Given the description of an element on the screen output the (x, y) to click on. 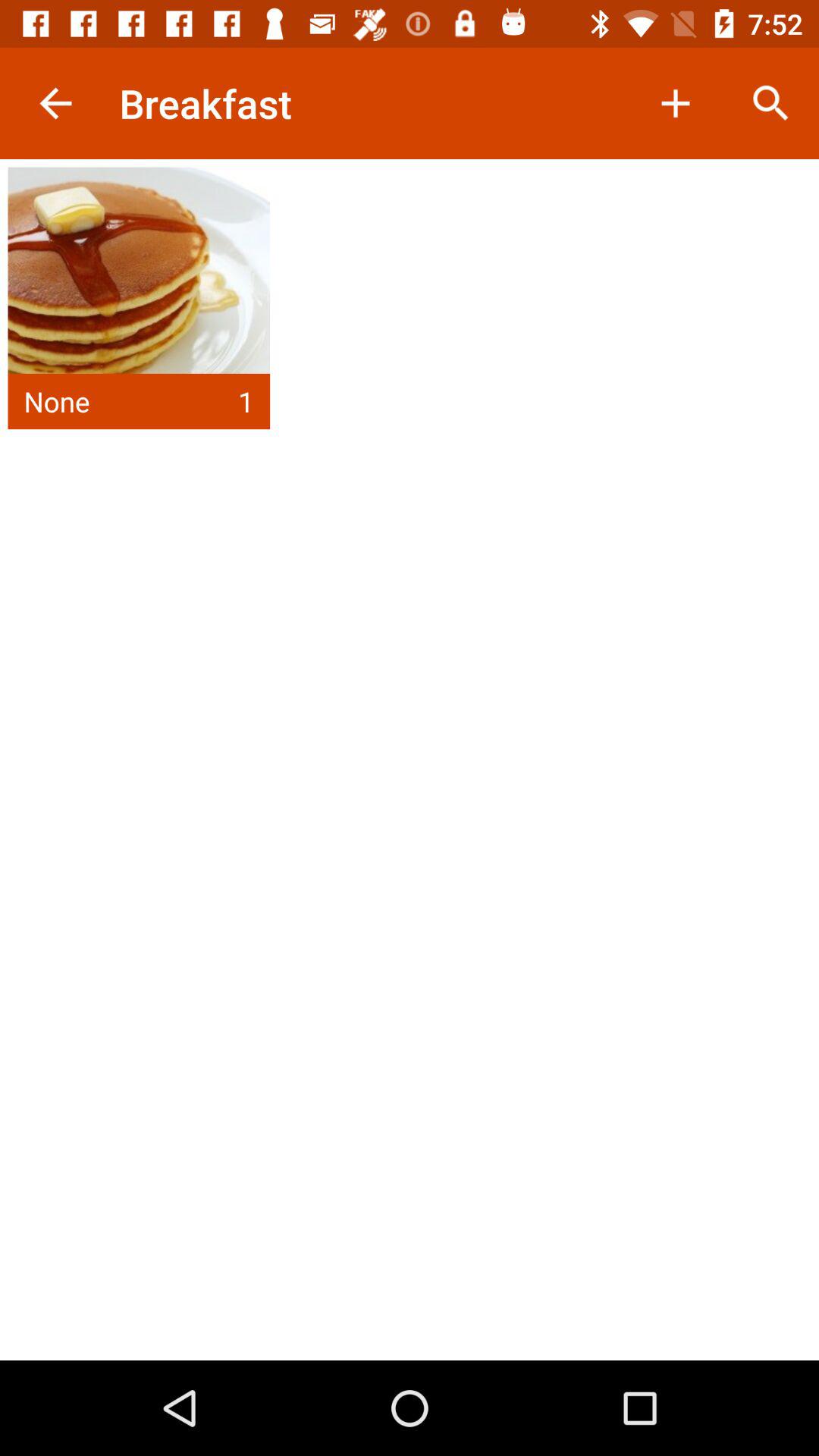
tap the icon next to the breakfast item (675, 103)
